Given the description of an element on the screen output the (x, y) to click on. 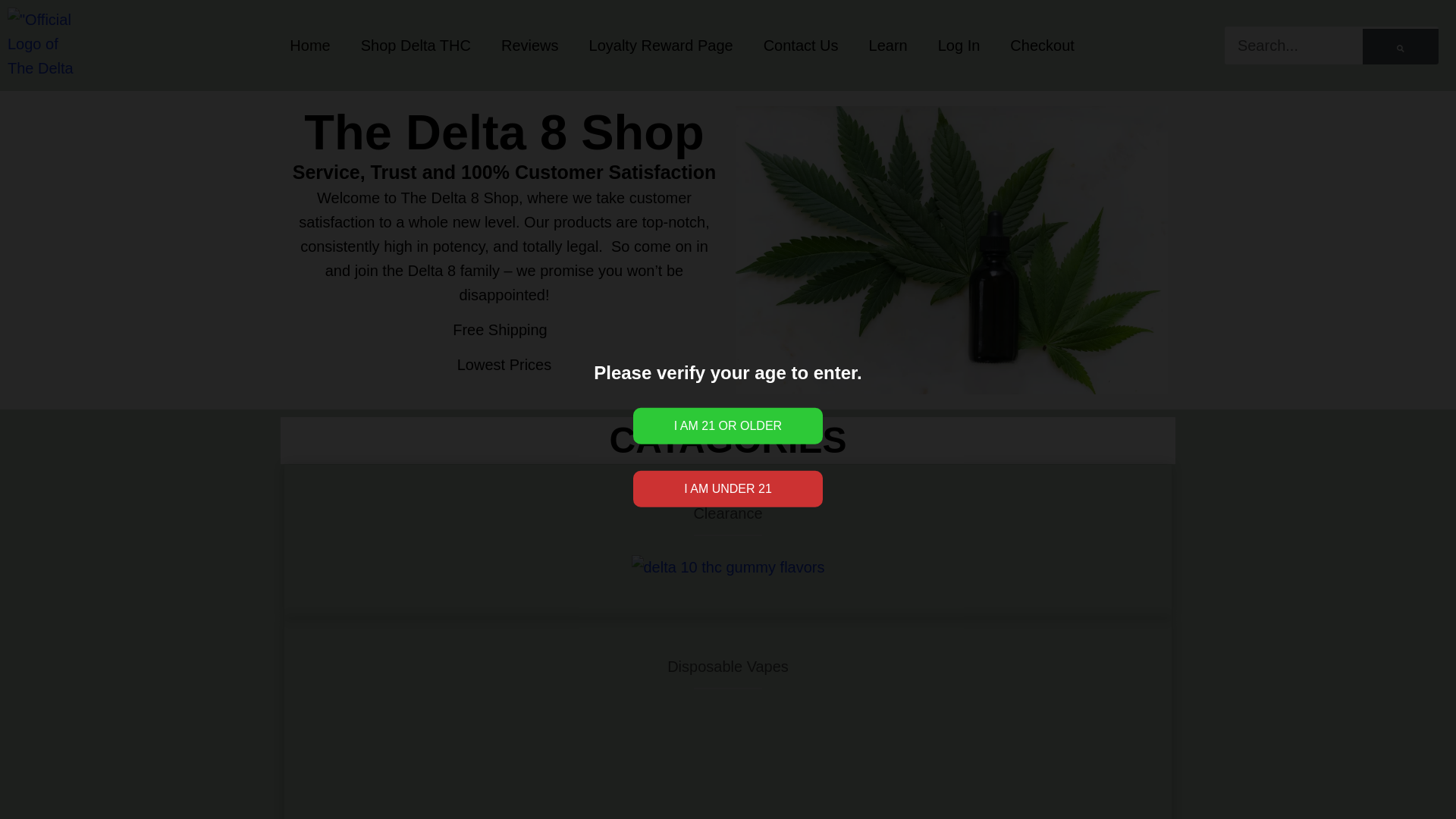
Checkout (1041, 45)
Reviews (529, 45)
Log In (959, 45)
Learn (888, 45)
I am 21 or older (727, 425)
Shop Delta THC (416, 45)
Clearance (727, 513)
Contact Us (800, 45)
I am under 21 (727, 488)
Home (310, 45)
